Given the description of an element on the screen output the (x, y) to click on. 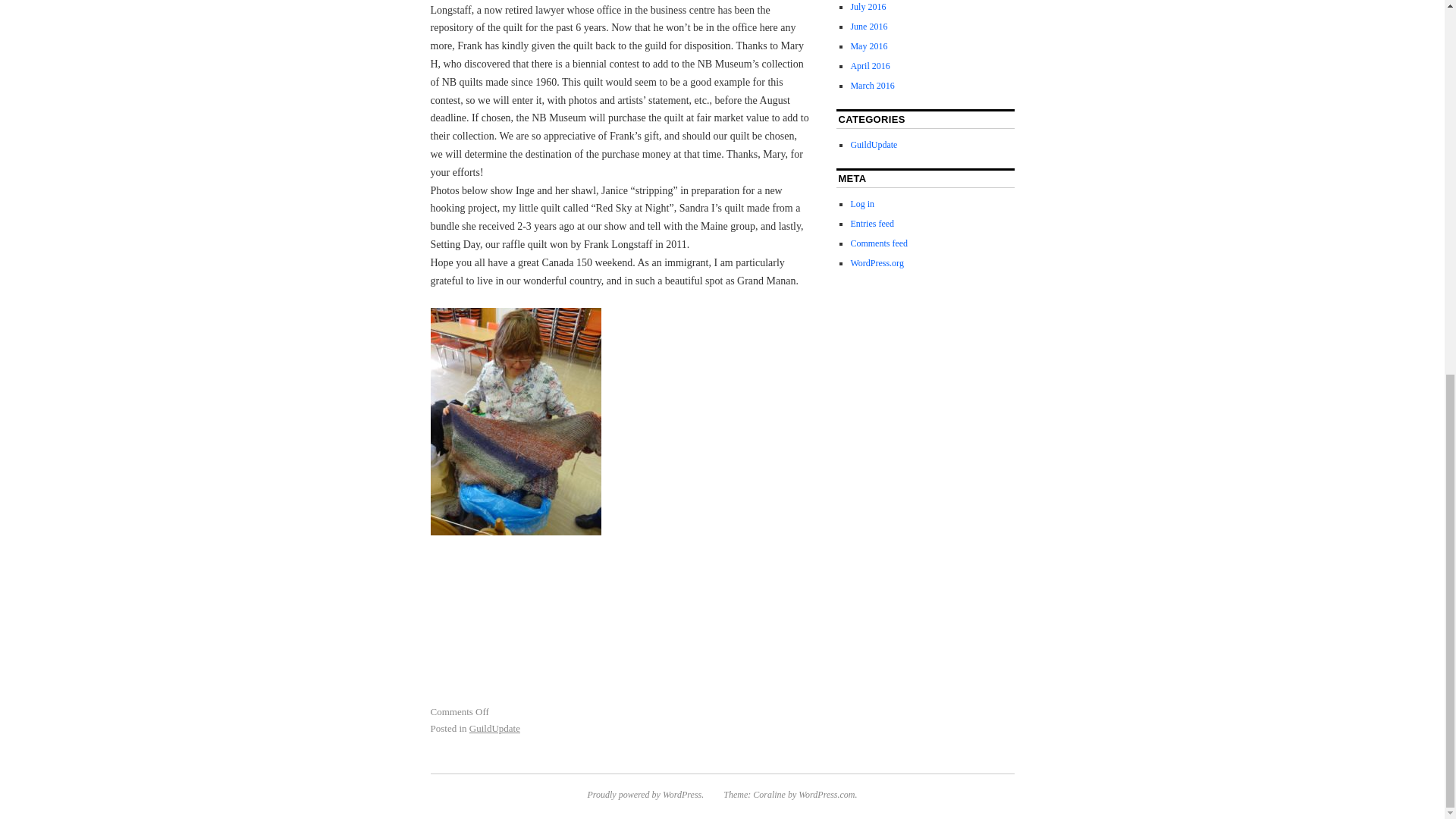
GuildUpdate (873, 144)
March 2016 (871, 85)
June 2016 (868, 26)
A Semantic Personal Publishing Platform (644, 794)
April 2016 (869, 65)
July 2016 (867, 6)
Log in (862, 204)
May 2016 (868, 45)
GuildUpdate (493, 727)
